Given the description of an element on the screen output the (x, y) to click on. 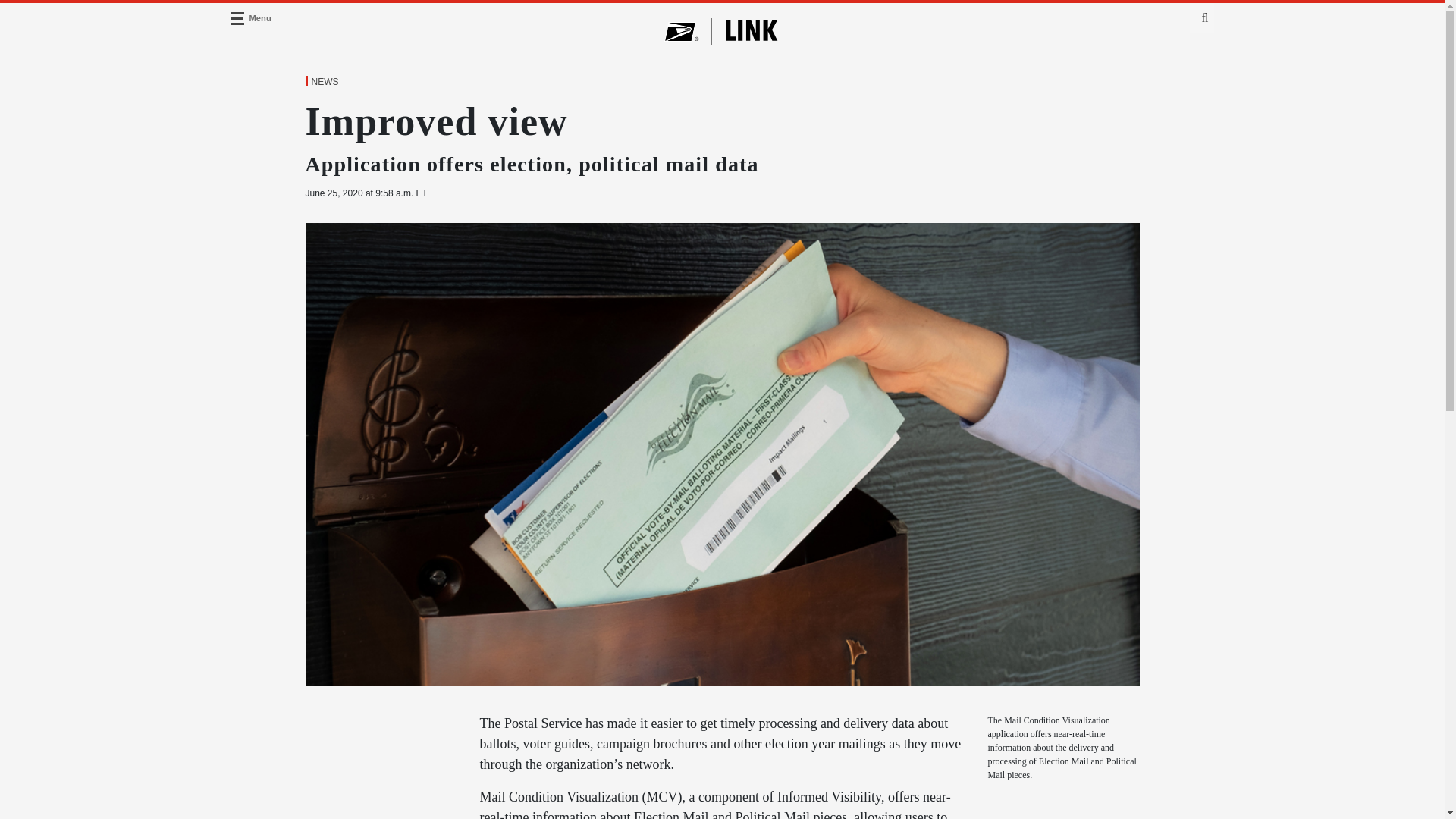
Menu (237, 18)
NEWS (323, 81)
